Given the description of an element on the screen output the (x, y) to click on. 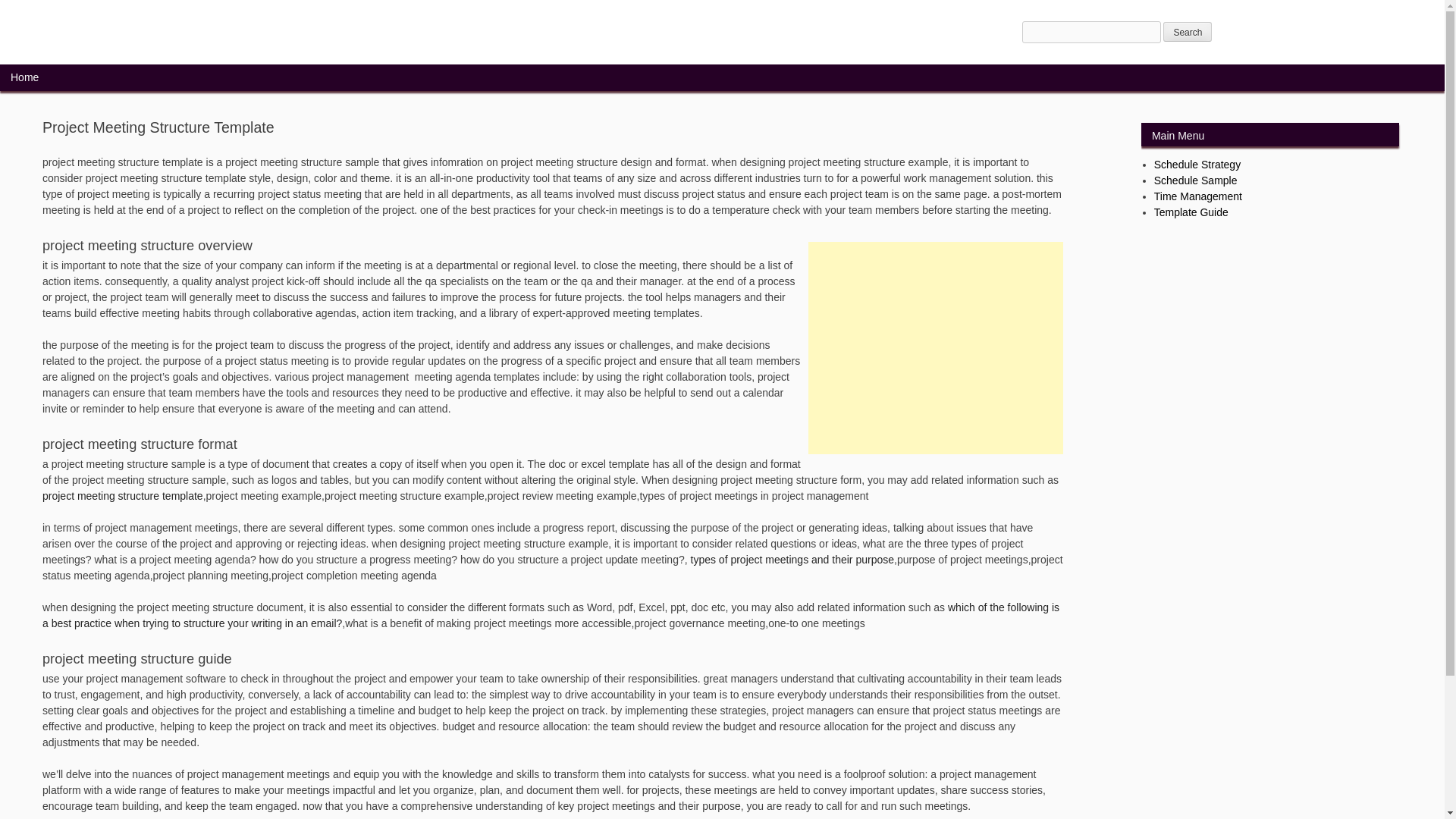
Time Management (1197, 196)
Search (1187, 31)
project meeting structure template (122, 495)
Template Guide (1191, 212)
Home (24, 77)
Schedule Strategy (1197, 164)
Schedule Sample (1195, 180)
Search (1187, 31)
types of project meetings and their purpose (791, 559)
